Given the description of an element on the screen output the (x, y) to click on. 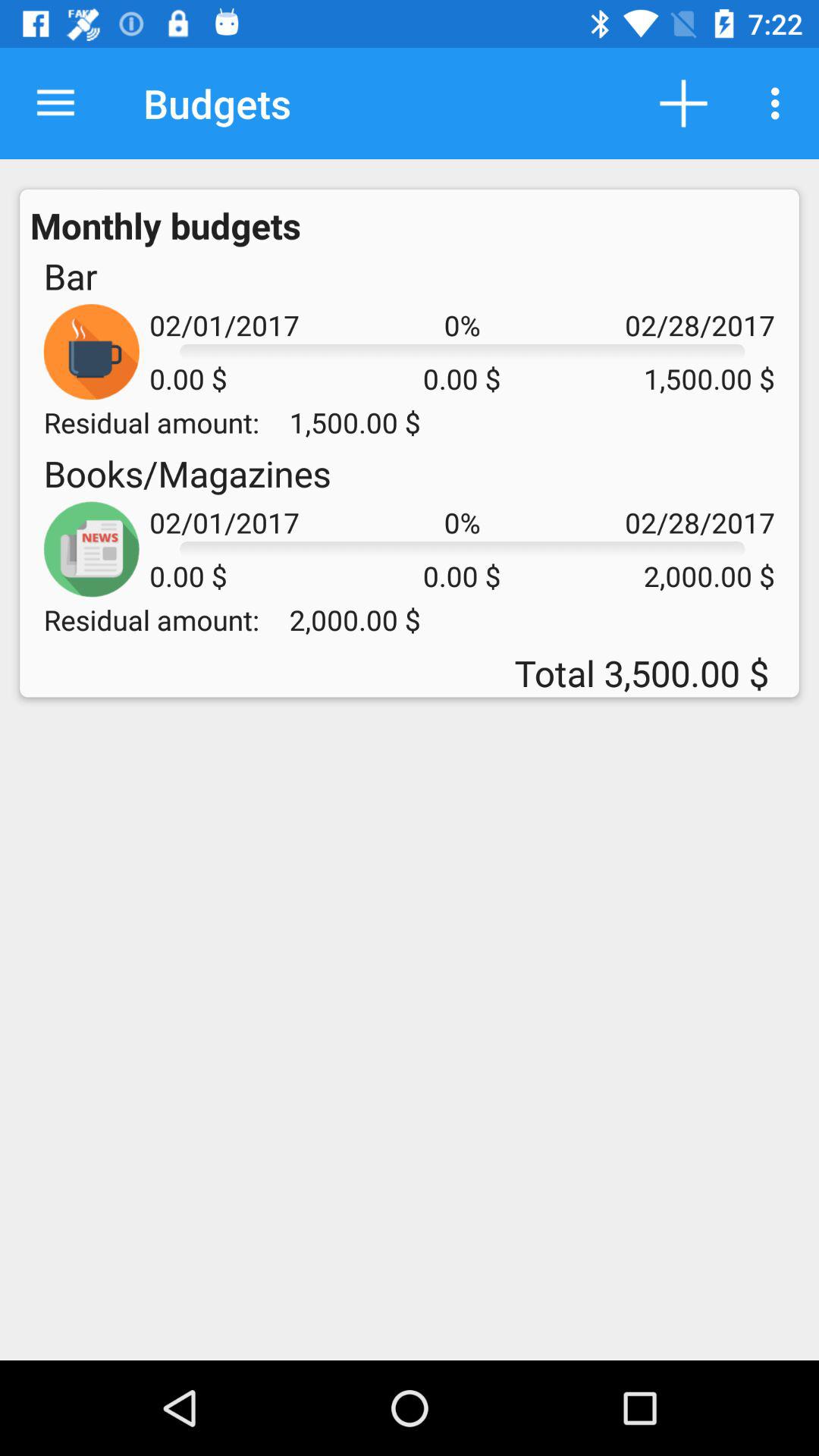
open the icon next to the budgets (683, 103)
